Given the description of an element on the screen output the (x, y) to click on. 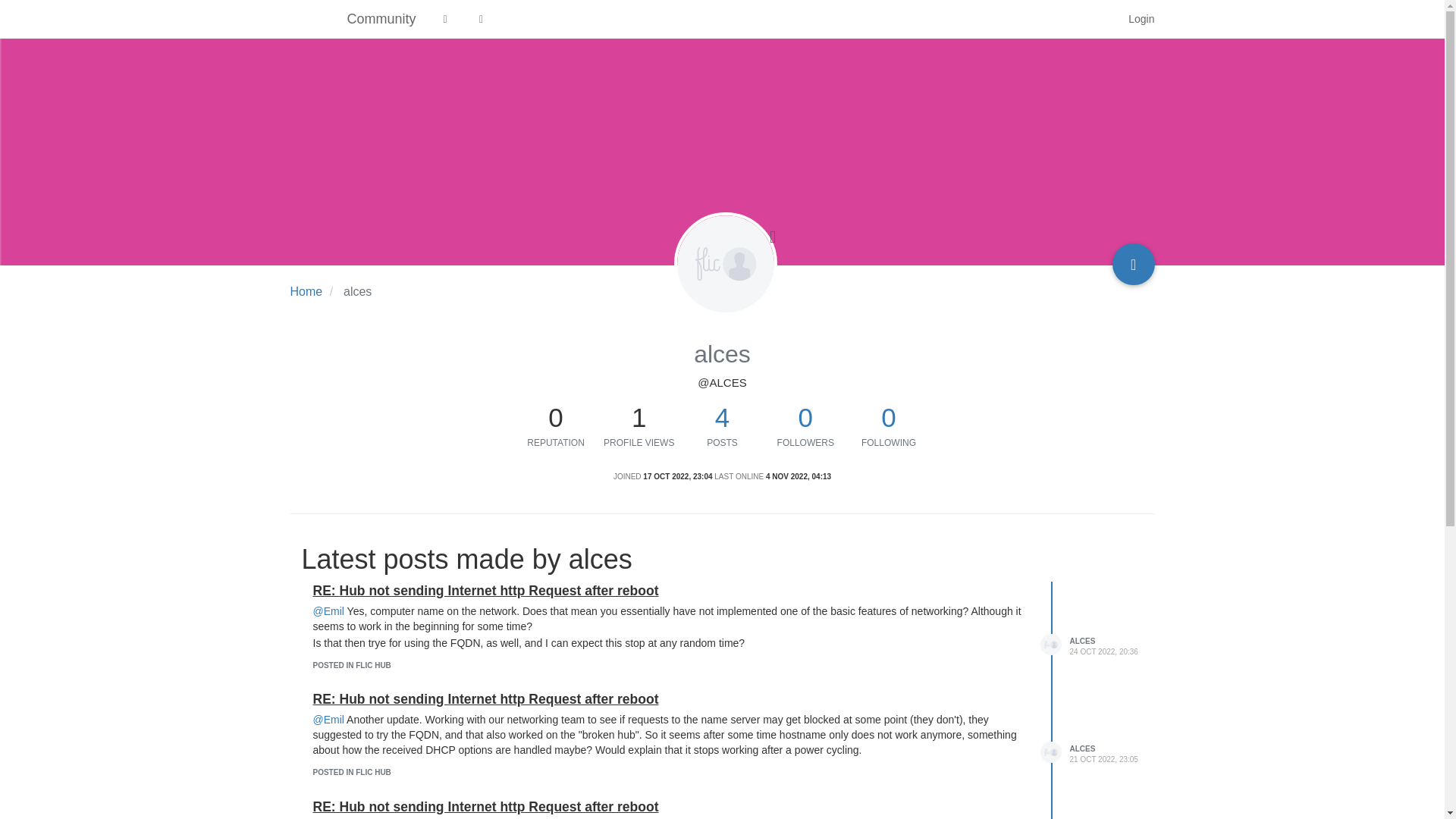
POSTED IN FLIC HUB (351, 664)
Login (1141, 18)
1 (639, 416)
RE: Hub not sending Internet http Request after reboot (485, 590)
Search (1097, 18)
ALCES (1081, 641)
RE: Hub not sending Internet http Request after reboot (485, 698)
Home (305, 291)
POSTED IN FLIC HUB (351, 772)
0 (556, 416)
